Given the description of an element on the screen output the (x, y) to click on. 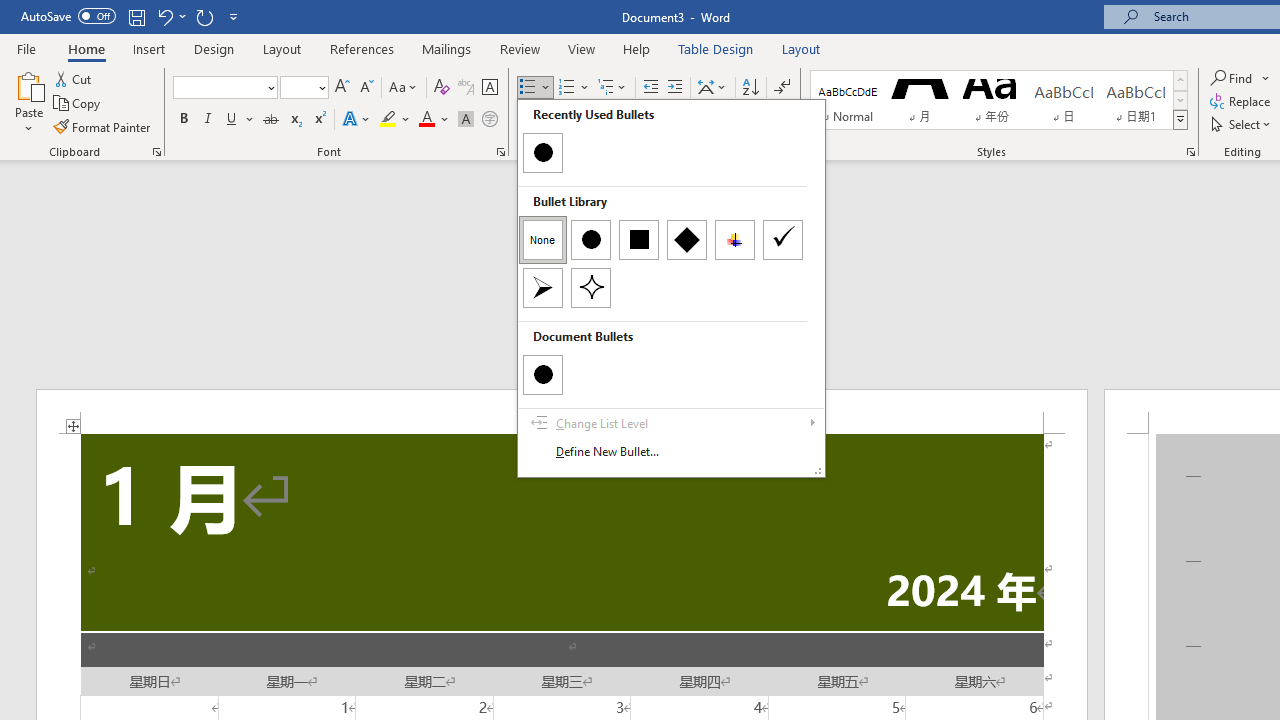
Shrink Font (365, 87)
Bullets (527, 87)
Font Size (297, 87)
Grow Font (342, 87)
Phonetic Guide... (465, 87)
Clear Formatting (442, 87)
Bullets (535, 87)
Increase Indent (675, 87)
Help (637, 48)
AutoSave (68, 16)
Font Color (434, 119)
Repeat Doc Close (204, 15)
Italic (207, 119)
